Given the description of an element on the screen output the (x, y) to click on. 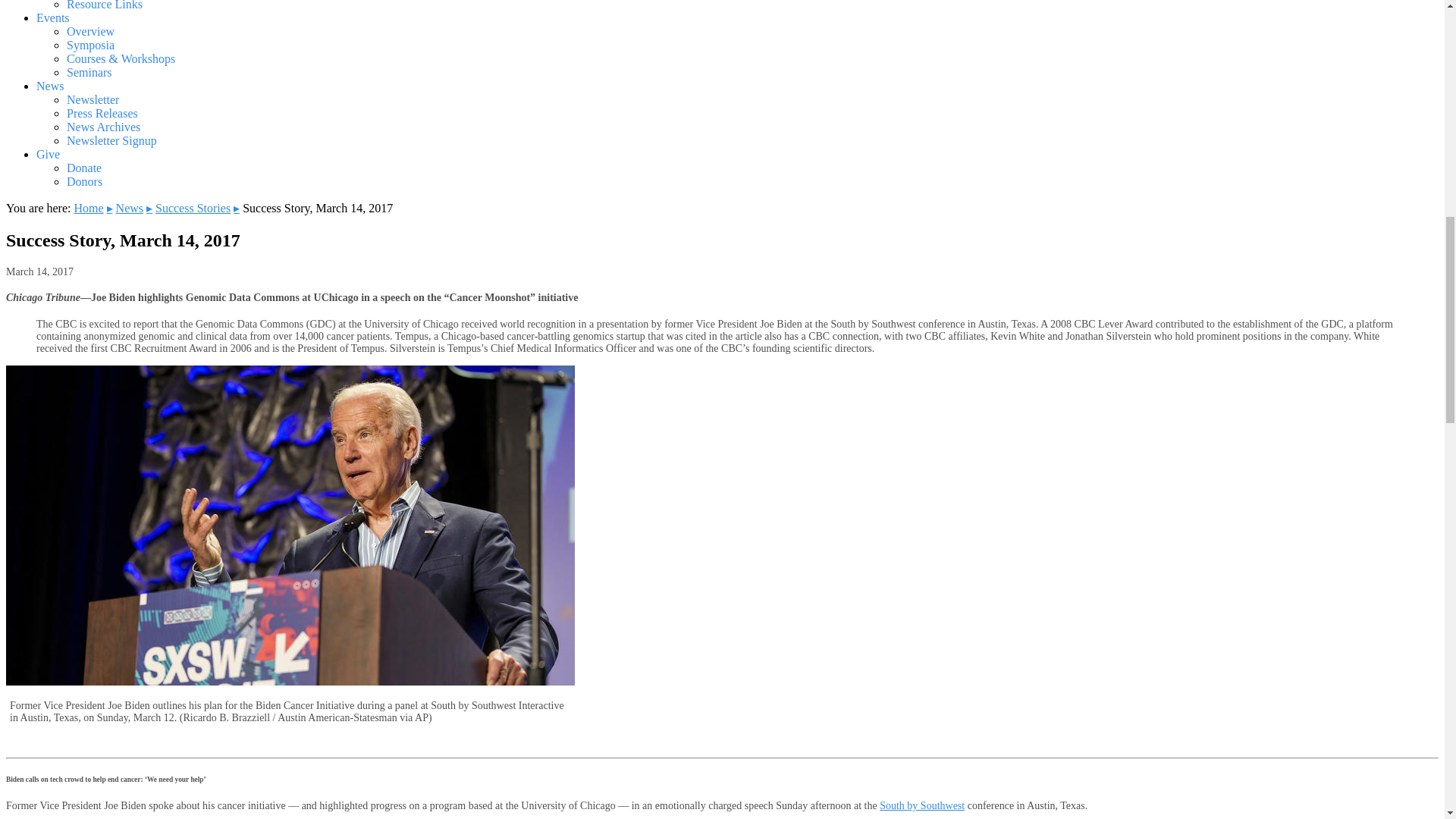
Resource Links (104, 5)
Events (52, 17)
News (50, 85)
Overview (90, 31)
Newsletter (92, 99)
Symposia (90, 44)
Seminars (89, 72)
